Given the description of an element on the screen output the (x, y) to click on. 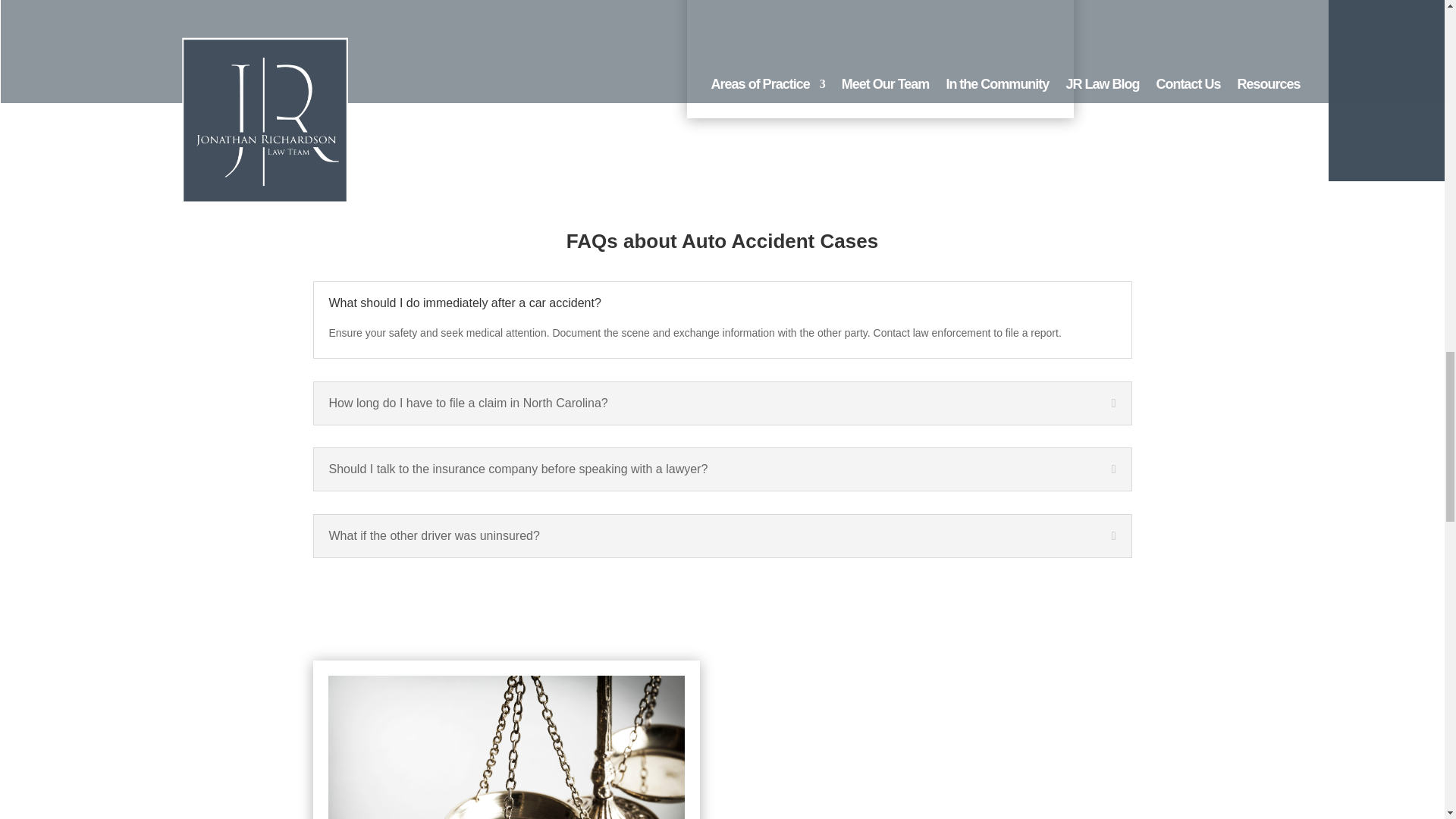
Untitled design - 2024-02-14T174649.541 (879, 52)
